Given the description of an element on the screen output the (x, y) to click on. 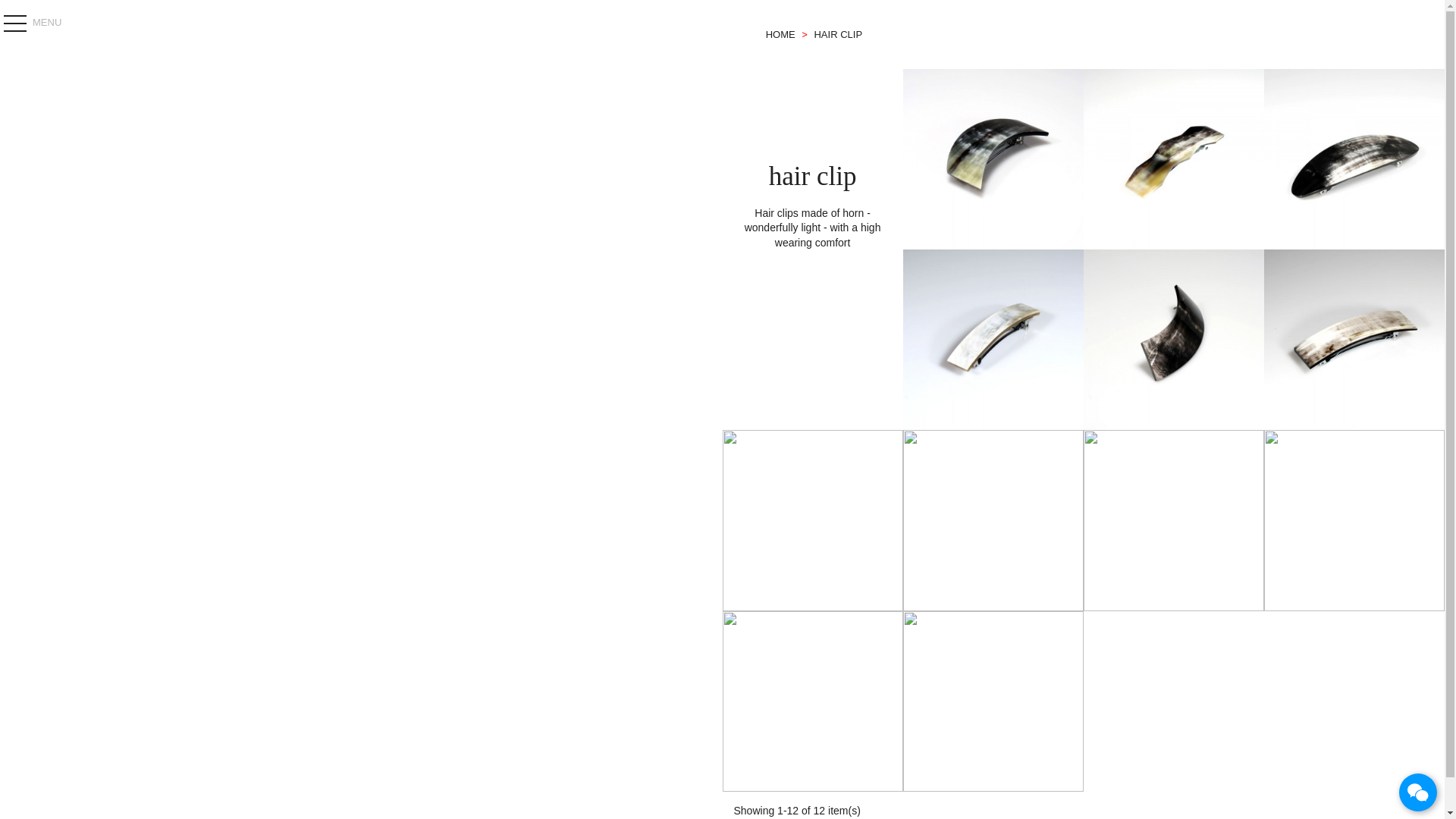
HOME (781, 34)
HAIR CLIP (837, 34)
MENU (34, 22)
